Given the description of an element on the screen output the (x, y) to click on. 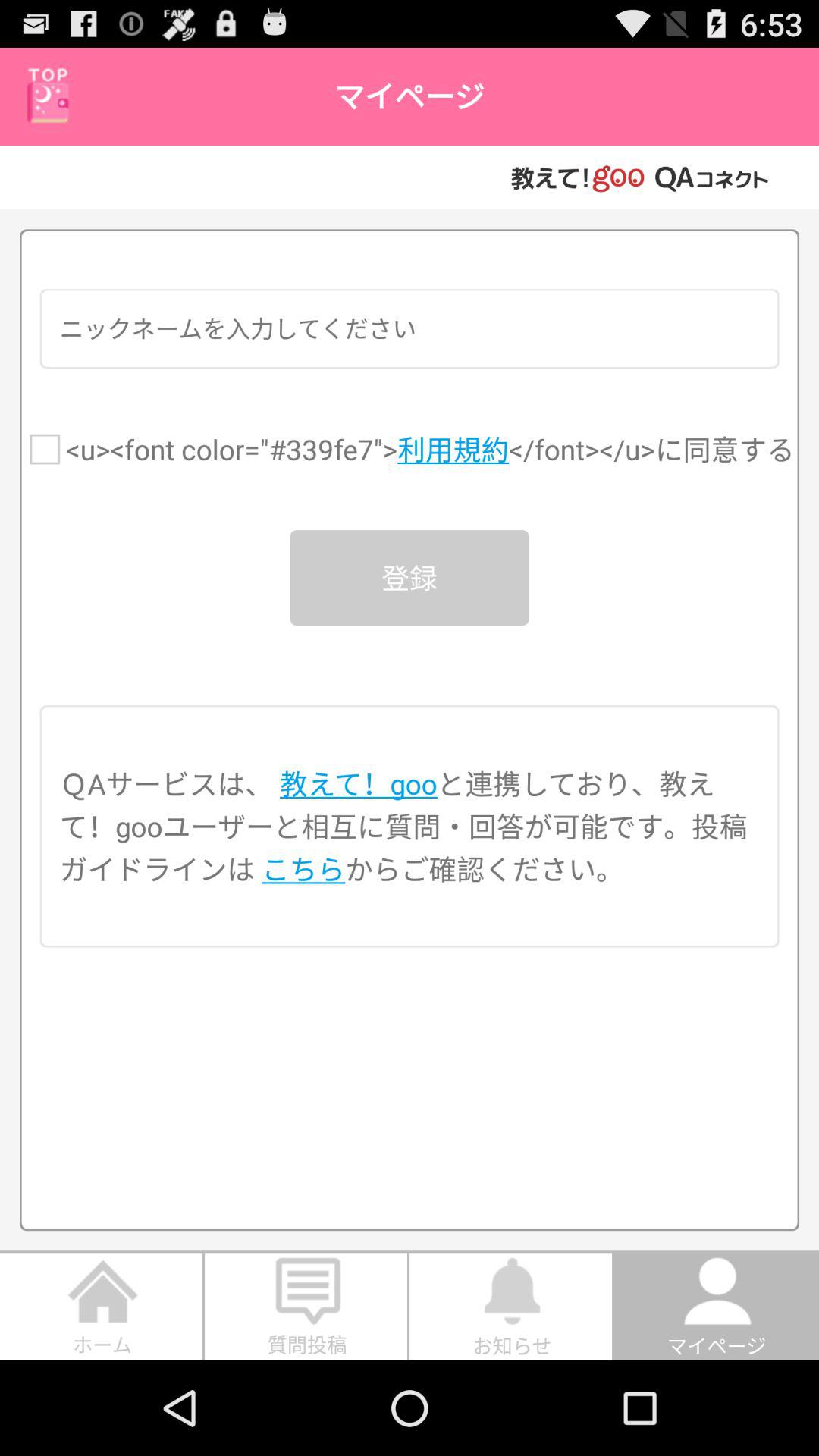
launch the icon to the left of the u font color (44, 449)
